Given the description of an element on the screen output the (x, y) to click on. 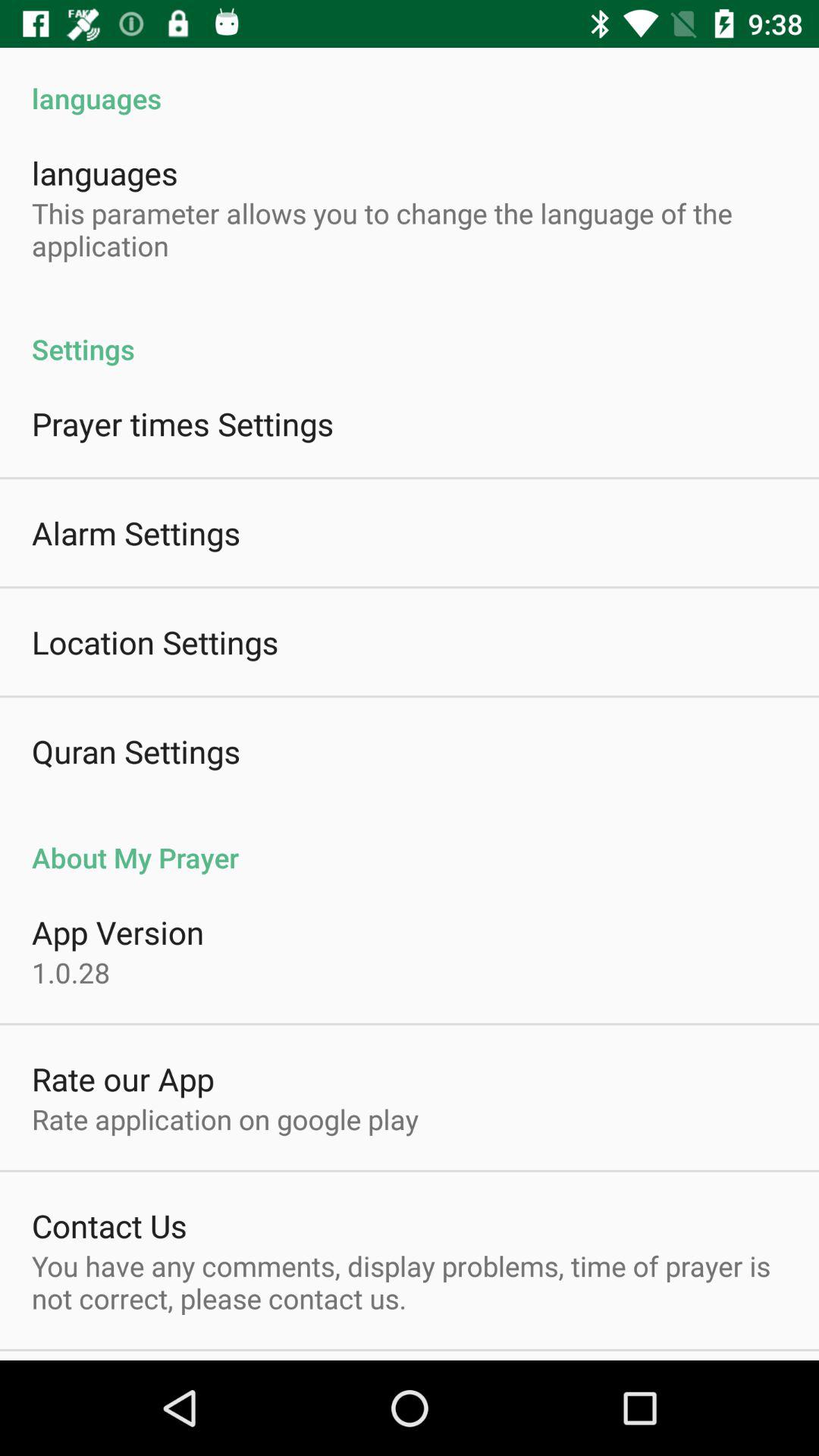
open 1.0.28 app (70, 972)
